Given the description of an element on the screen output the (x, y) to click on. 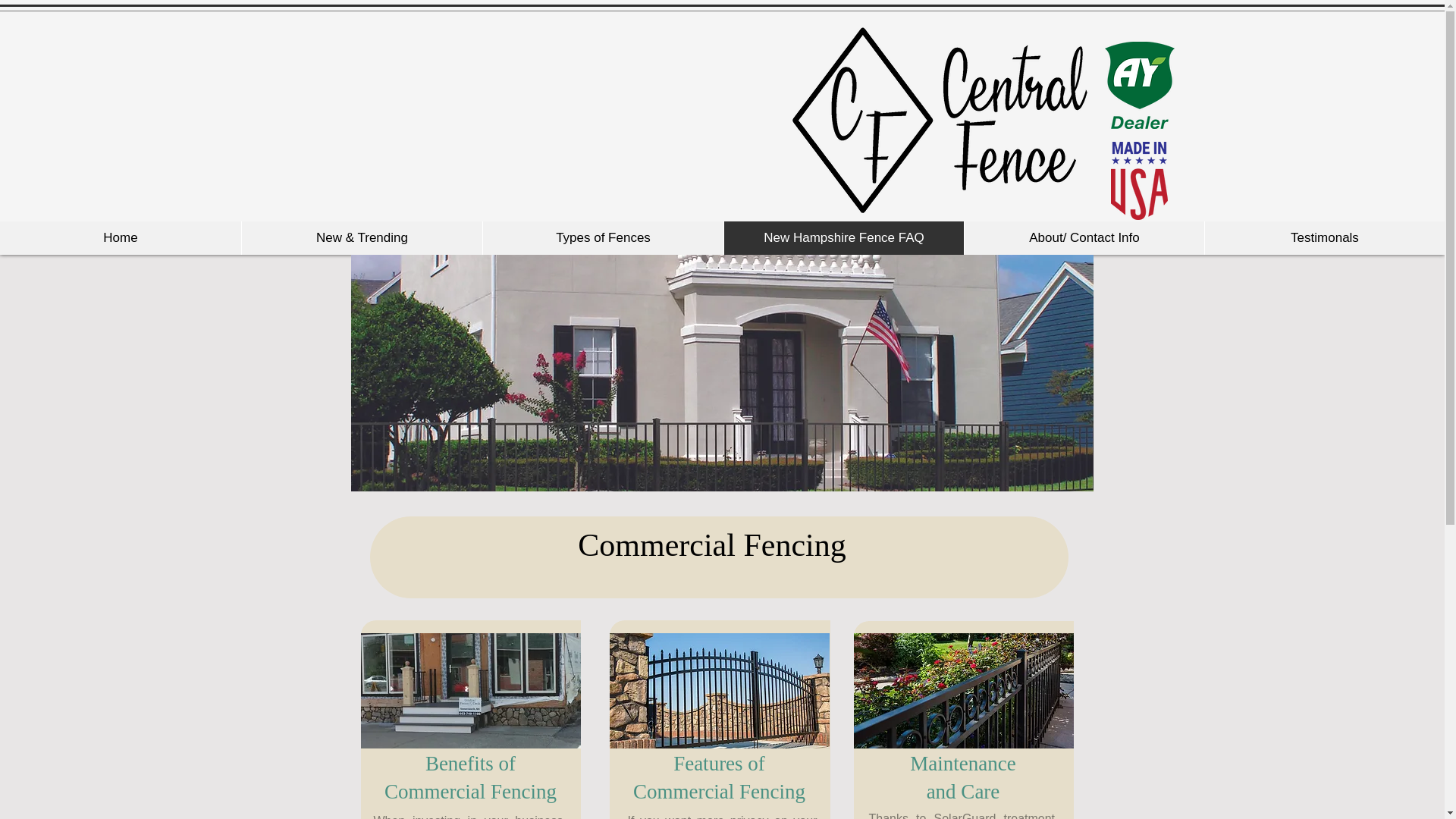
Types of Fences (602, 237)
New Hampshire Fence FAQ (843, 237)
Home (120, 237)
Made-USA.png (1138, 180)
CFDLogo.png (939, 119)
